Given the description of an element on the screen output the (x, y) to click on. 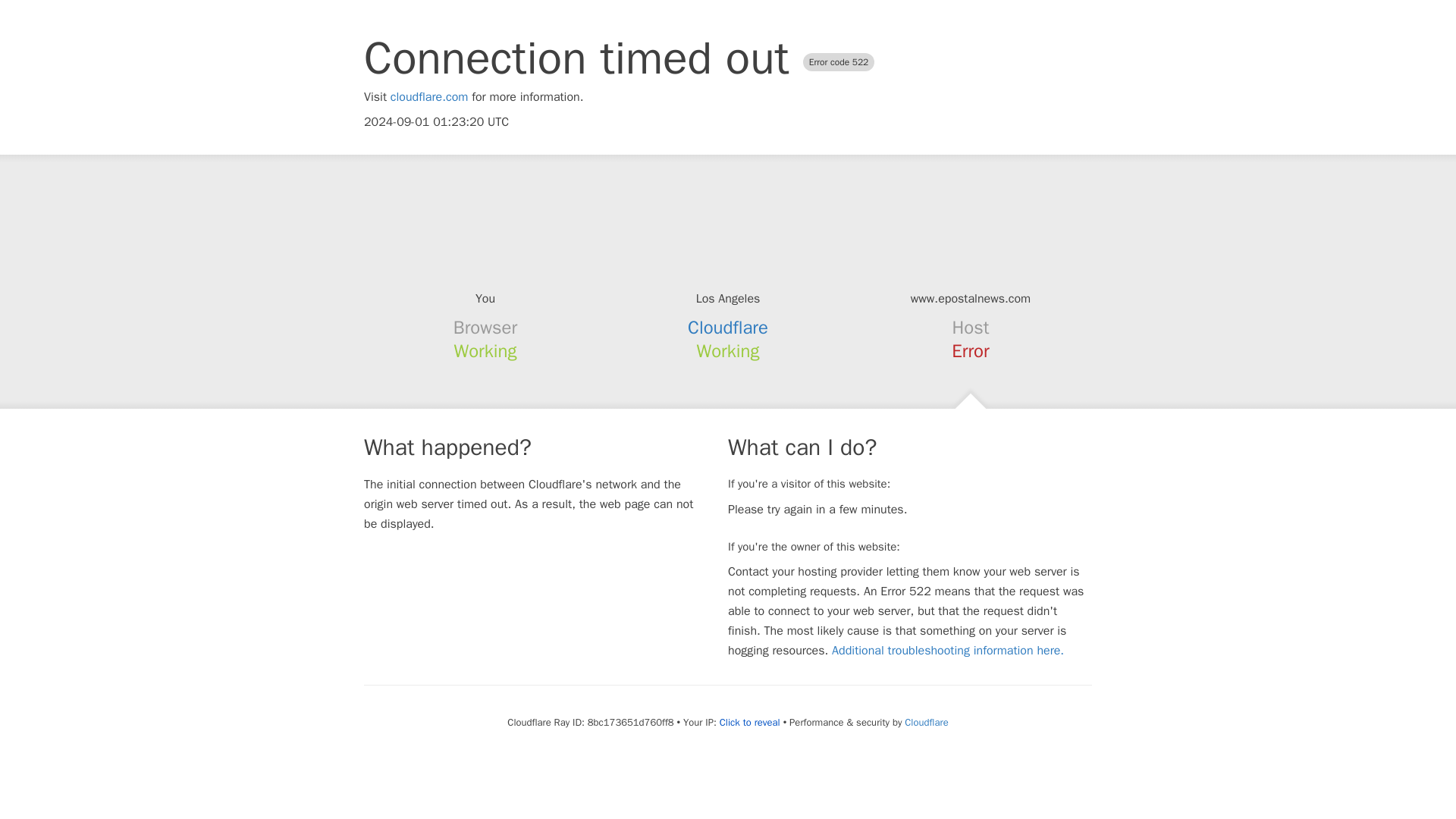
cloudflare.com (429, 96)
Cloudflare (925, 721)
Cloudflare (727, 327)
Click to reveal (749, 722)
Additional troubleshooting information here. (947, 650)
